Given the description of an element on the screen output the (x, y) to click on. 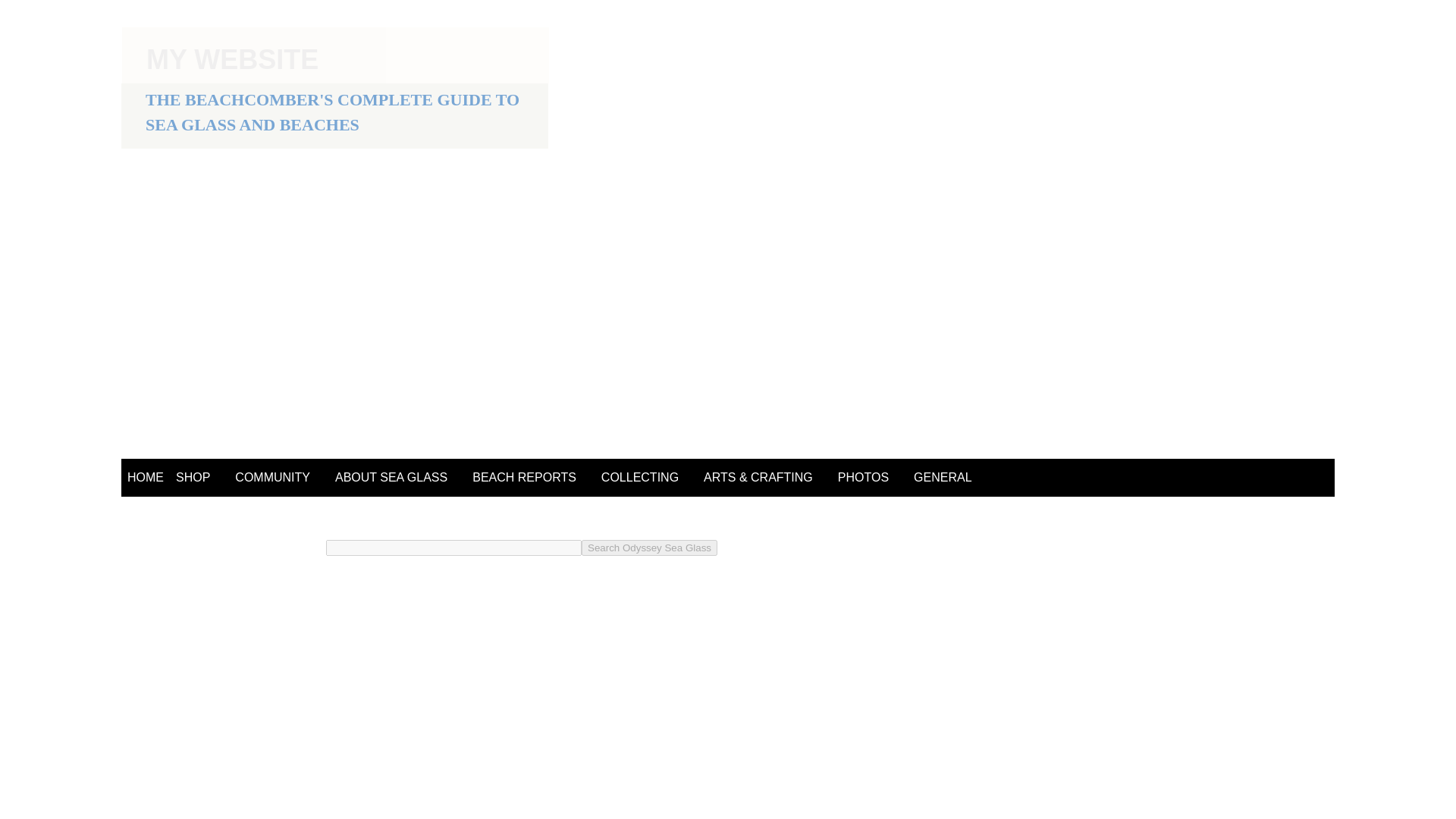
MY WEBSITE (232, 59)
Search Odyssey Sea Glass (648, 547)
SHOP (192, 477)
HOME (145, 477)
